Given the description of an element on the screen output the (x, y) to click on. 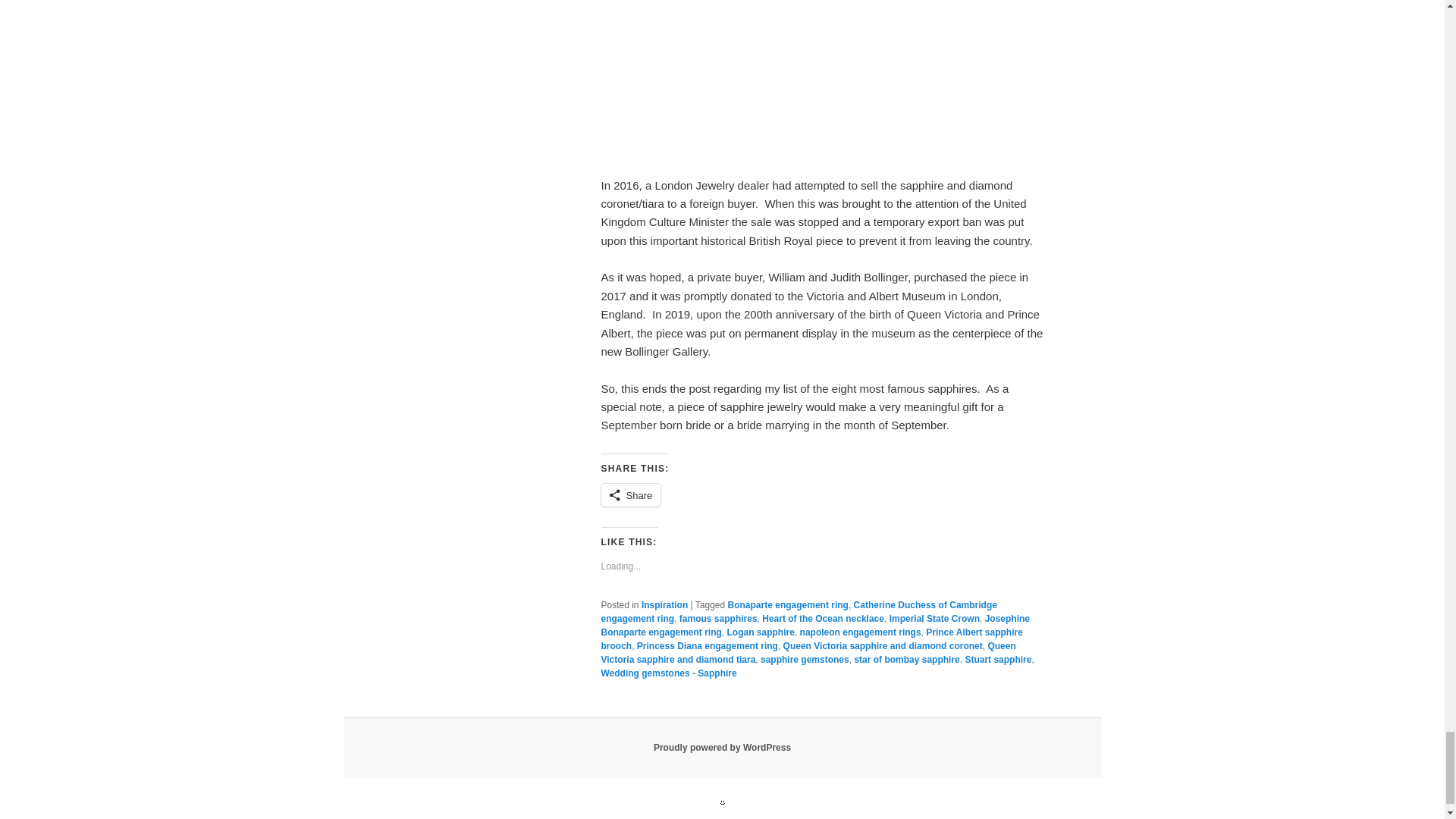
Queen Victoria sapphire and diamond coronet (882, 645)
Bonaparte engagement ring (788, 604)
Prince Albert sapphire brooch (810, 639)
famous sapphires (718, 618)
Imperial State Crown (934, 618)
Catherine Duchess of Cambridge engagement ring (797, 611)
Share (630, 495)
Queen Victoria sapphire and diamond tiara (806, 652)
napoleon engagement rings (860, 632)
Inspiration (664, 604)
Heart of the Ocean necklace (822, 618)
sapphire gemstones (804, 659)
Princess Diana engagement ring (707, 645)
Semantic Personal Publishing Platform (721, 747)
star of bombay sapphire (906, 659)
